Given the description of an element on the screen output the (x, y) to click on. 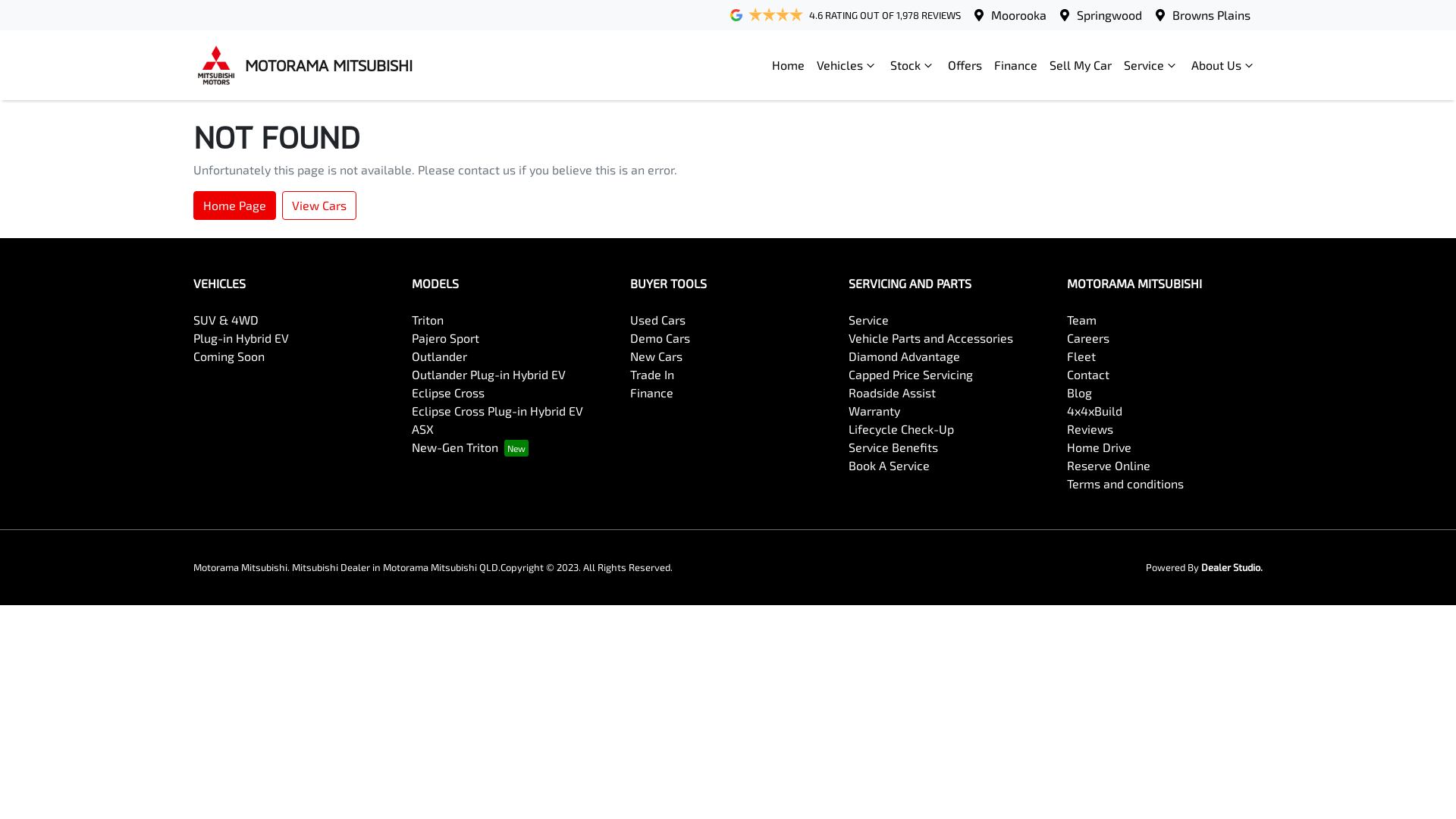
Demo Cars Element type: text (660, 337)
Blog Element type: text (1079, 392)
Service Element type: text (1151, 65)
Plug-in Hybrid EV Element type: text (240, 337)
Home Page Element type: text (234, 205)
Home Element type: text (787, 65)
Springwood Element type: text (1109, 14)
Contact Element type: text (1087, 374)
Stock Element type: text (912, 65)
Lifecycle Check-Up Element type: text (900, 428)
Eclipse Cross Element type: text (447, 392)
Pajero Sport Element type: text (445, 337)
Finance Element type: text (1015, 65)
Book A Service Element type: text (888, 465)
Service Element type: text (868, 319)
Terms and conditions Element type: text (1124, 483)
Vehicle Parts and Accessories Element type: text (930, 337)
Sell My Car Element type: text (1080, 65)
Trade In Element type: text (652, 374)
SUV & 4WD Element type: text (225, 319)
New Cars Element type: text (656, 355)
Service Benefits Element type: text (893, 446)
Fleet Element type: text (1080, 355)
View Cars Element type: text (319, 205)
ASX Element type: text (422, 428)
Triton Element type: text (427, 319)
Reviews Element type: text (1089, 428)
Dealer Studio. Element type: text (1231, 567)
Offers Element type: text (964, 65)
Reserve Online Element type: text (1108, 465)
4x4xBuild Element type: text (1094, 410)
Used Cars Element type: text (657, 319)
Moorooka Element type: text (1018, 14)
Capped Price Servicing Element type: text (910, 374)
Roadside Assist Element type: text (891, 392)
Warranty Element type: text (874, 410)
Finance Element type: text (651, 392)
Outlander Element type: text (439, 355)
Home Drive Element type: text (1098, 446)
Outlander Plug-in Hybrid EV Element type: text (488, 374)
New-Gen Triton Element type: text (469, 446)
Eclipse Cross Plug-in Hybrid EV Element type: text (497, 410)
Vehicles Element type: text (847, 65)
Coming Soon Element type: text (228, 355)
Browns Plains Element type: text (1211, 14)
Diamond Advantage Element type: text (904, 355)
About Us Element type: text (1223, 65)
Careers Element type: text (1087, 337)
MOTORAMA MITSUBISHI Element type: text (302, 65)
Team Element type: text (1081, 319)
